Given the description of an element on the screen output the (x, y) to click on. 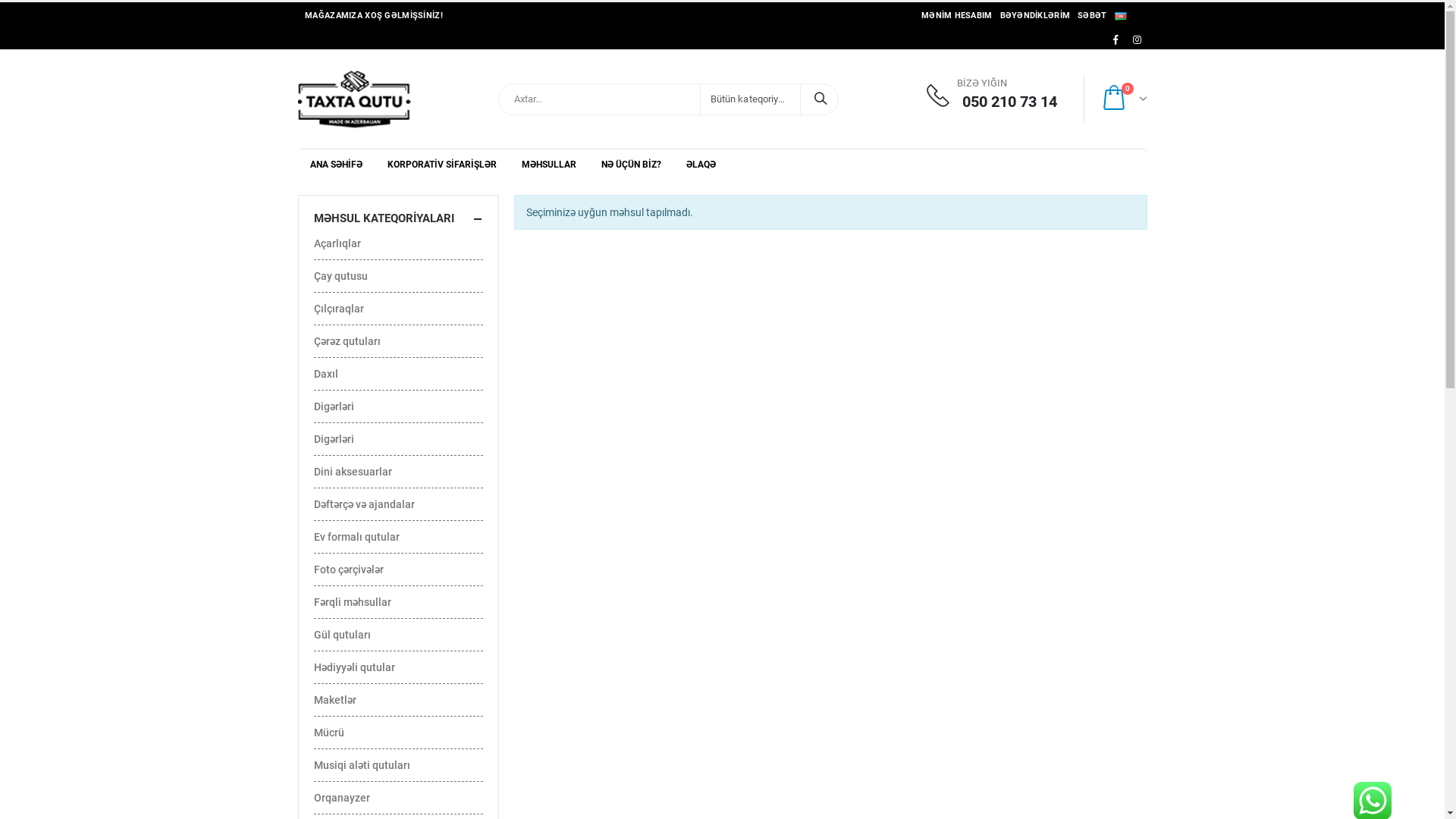
Axtar Element type: hover (820, 99)
Instagram Element type: hover (1137, 39)
Facebook Element type: hover (1115, 39)
Dini aksesuarlar Element type: text (352, 471)
Taxtaqutu - Taxtaqutu Element type: hover (353, 99)
Orqanayzer Element type: text (341, 797)
